Given the description of an element on the screen output the (x, y) to click on. 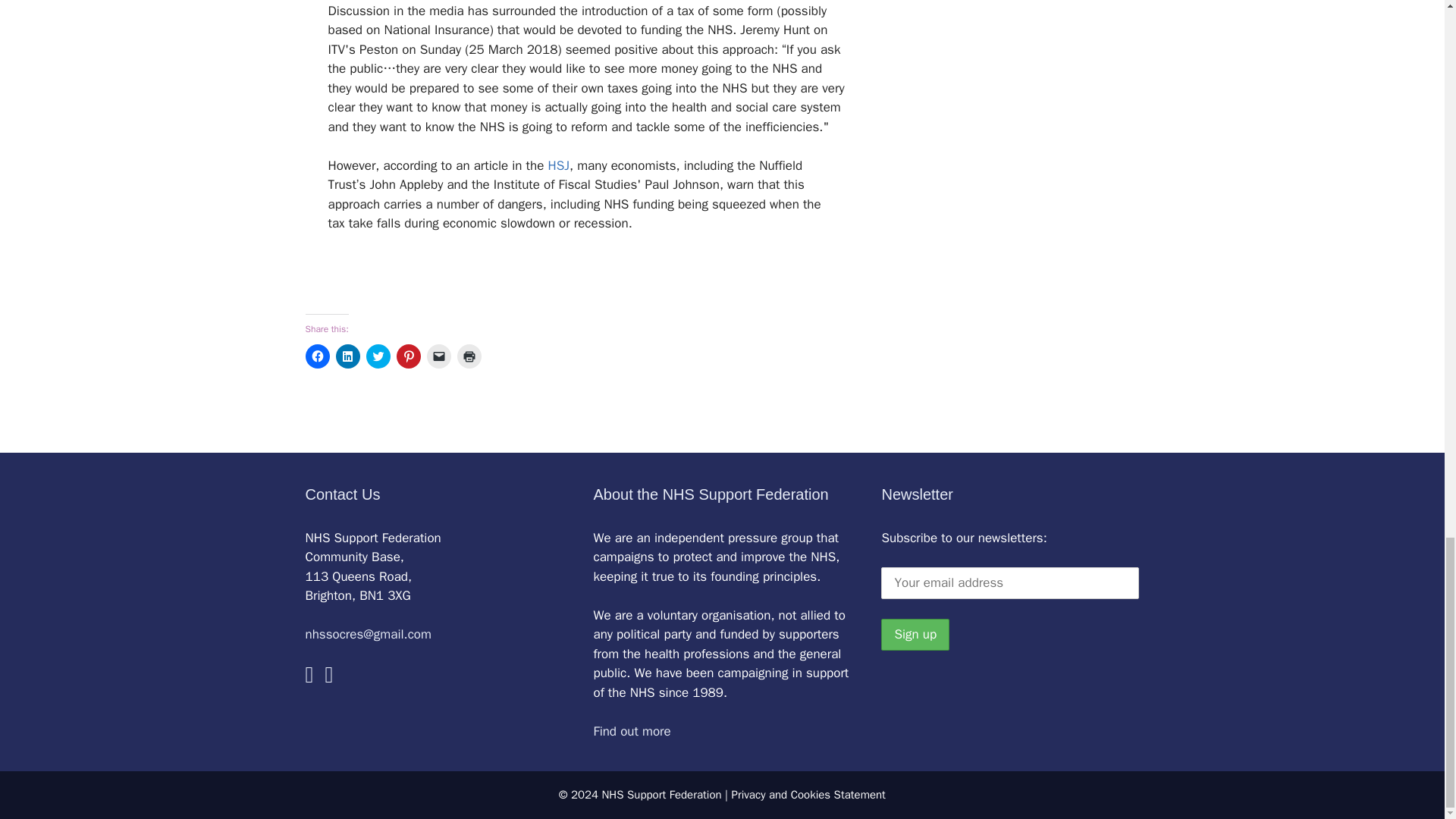
Sign up (914, 634)
Click to share on Pinterest (408, 355)
Click to share on Twitter (377, 355)
Click to share on Facebook (316, 355)
Click to email a link to a friend (437, 355)
Click to print (468, 355)
Click to share on LinkedIn (346, 355)
